Given the description of an element on the screen output the (x, y) to click on. 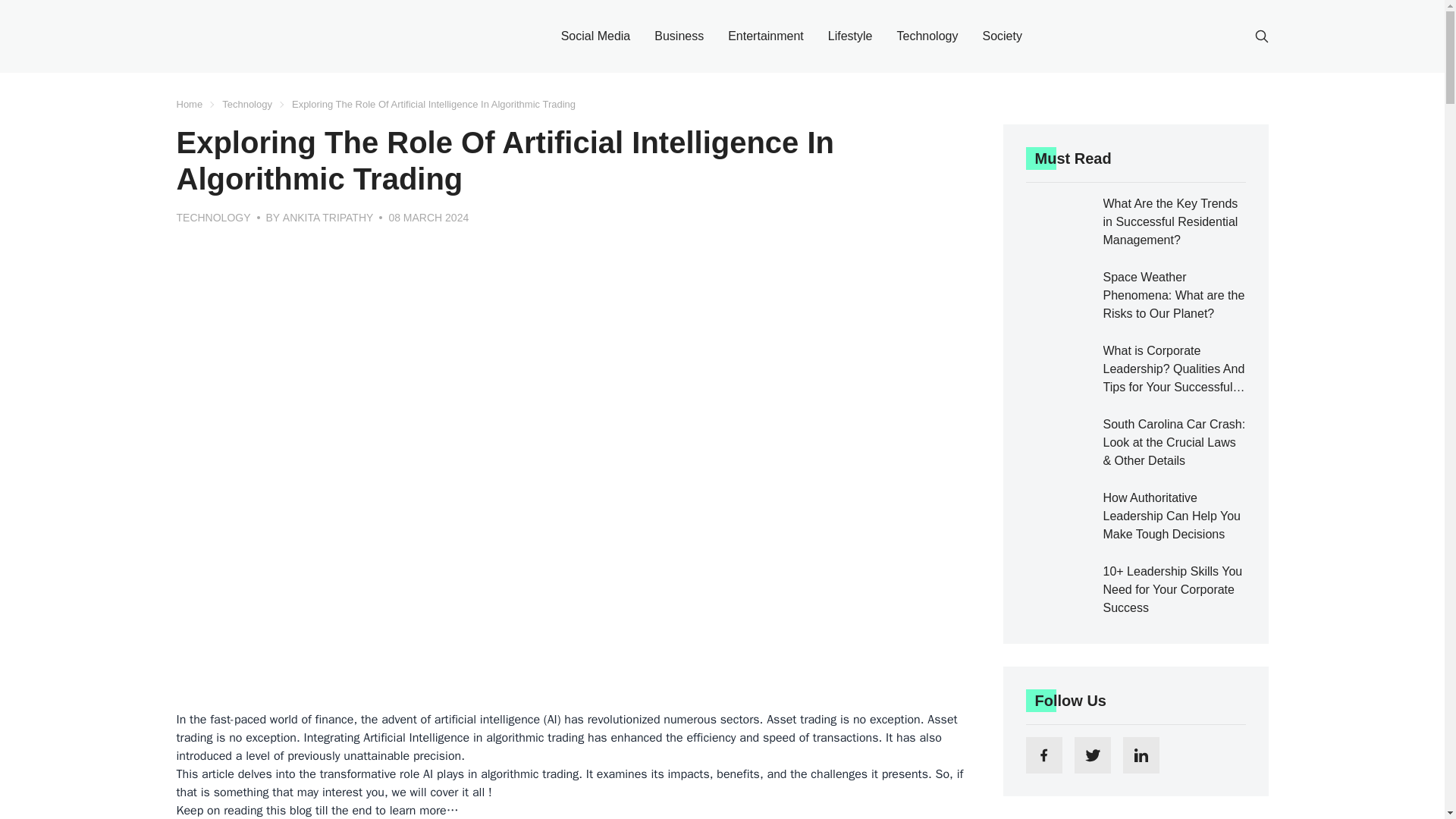
Society (1001, 36)
Entertainment (765, 36)
Business (678, 36)
Technology (927, 36)
Social Media (595, 36)
Technology (247, 104)
Lifestyle (850, 36)
Technology (213, 217)
